Given the description of an element on the screen output the (x, y) to click on. 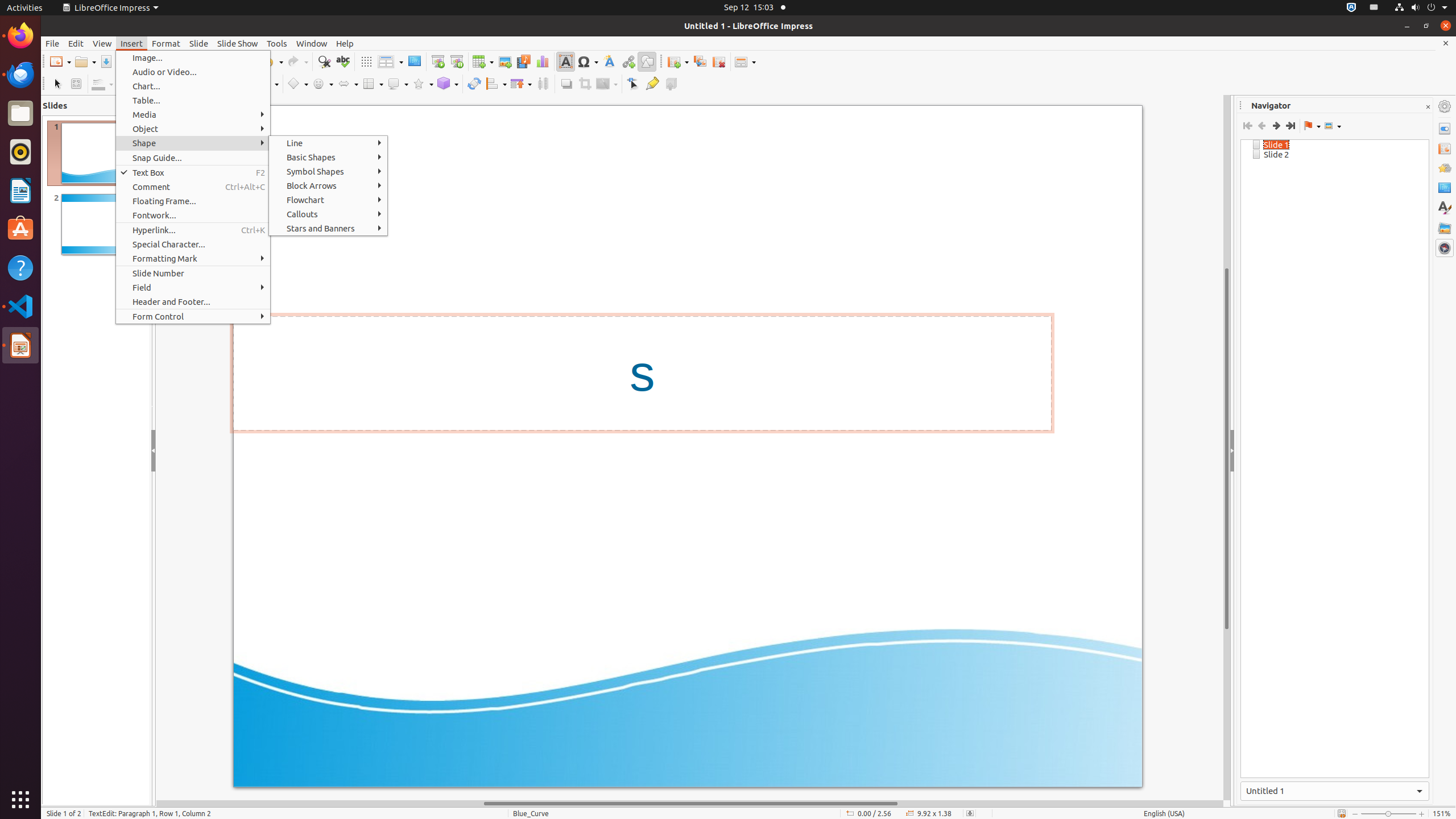
LibreOffice Impress Element type: push-button (20, 344)
Object Element type: menu (193, 128)
Window Element type: menu (311, 43)
Slide Number Element type: menu-item (193, 273)
